Given the description of an element on the screen output the (x, y) to click on. 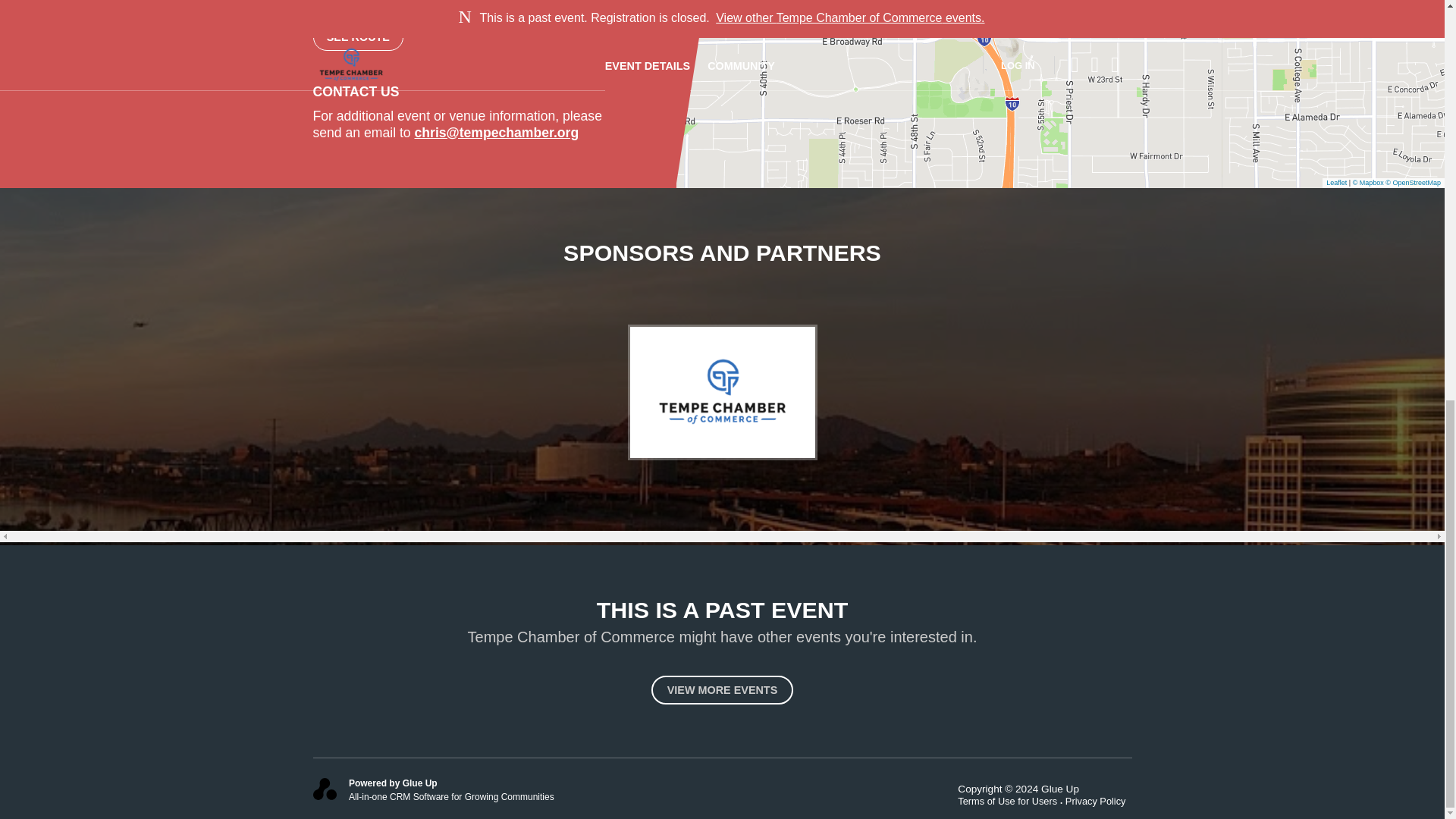
Leaflet (1336, 182)
Privacy Policy (1098, 800)
SEE ROUTE (358, 37)
A JS library for interactive maps (1336, 182)
VIEW MORE EVENTS (721, 690)
Terms of Use for Users (1011, 800)
